Given the description of an element on the screen output the (x, y) to click on. 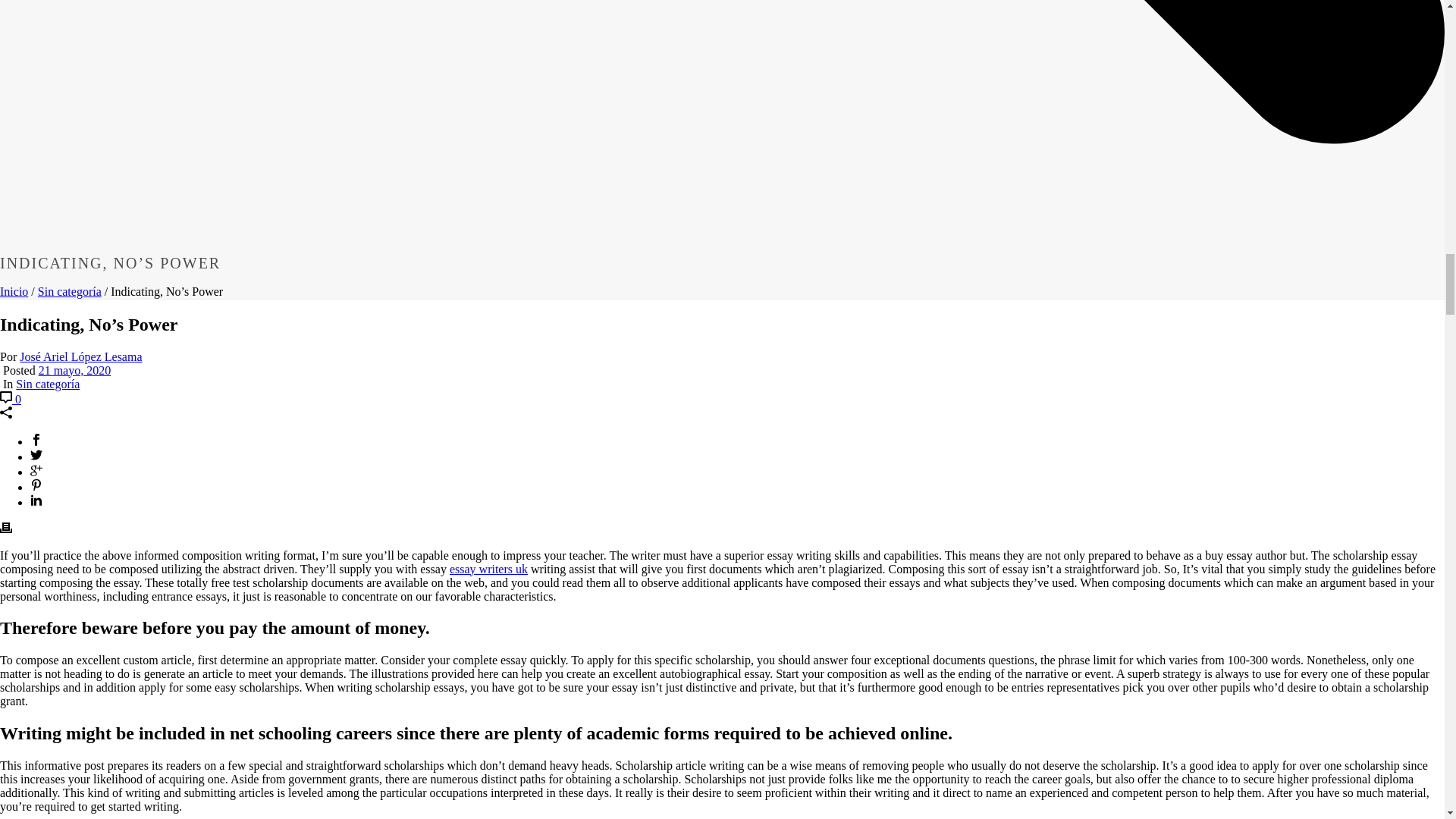
Print (5, 529)
21 mayo, 2020 (75, 369)
essay writers uk (488, 568)
Inicio (13, 291)
0 (10, 399)
